Given the description of an element on the screen output the (x, y) to click on. 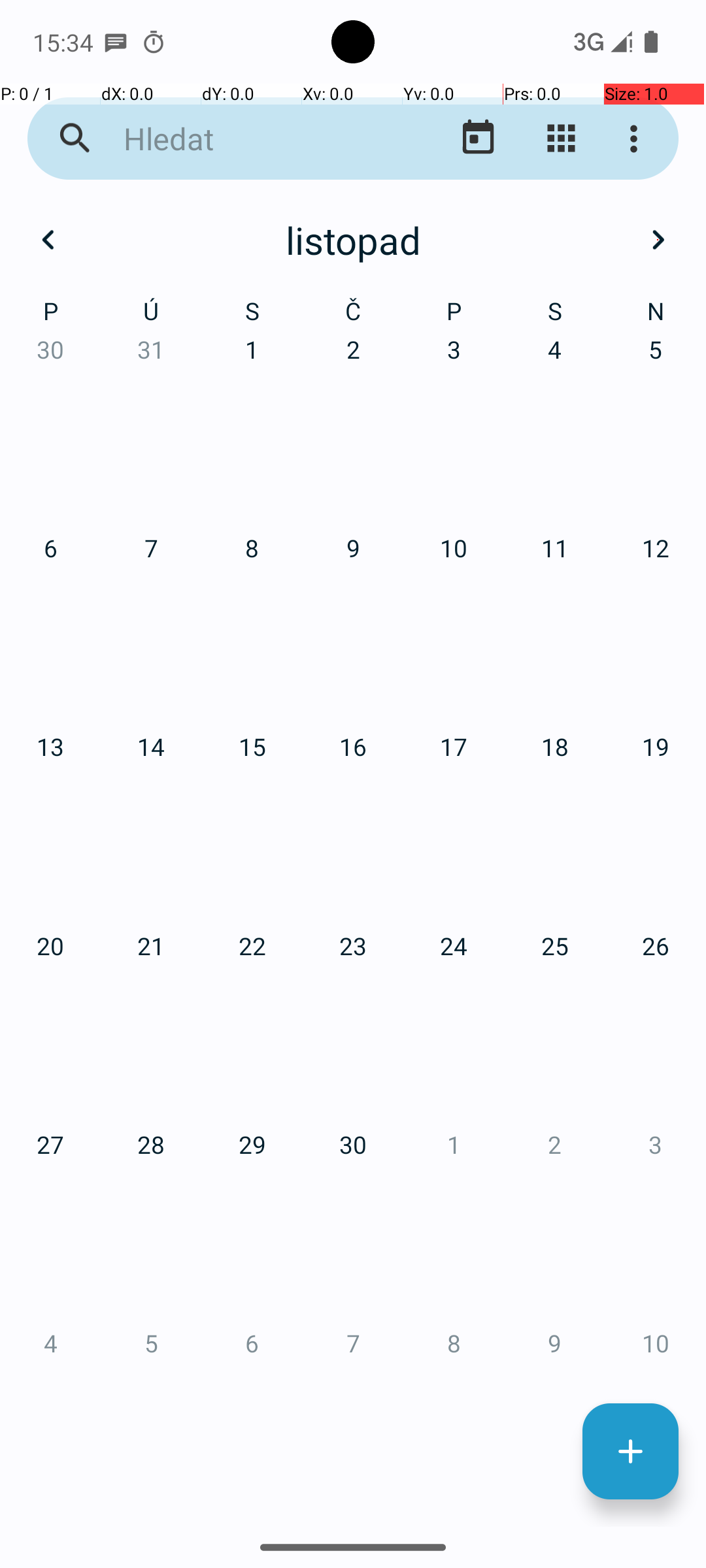
Přejít na dnešní datum Element type: android.widget.Button (477, 138)
listopad Element type: android.widget.TextView (352, 239)
SMS Messenger notification: +17247648679 Element type: android.widget.ImageView (115, 41)
